Given the description of an element on the screen output the (x, y) to click on. 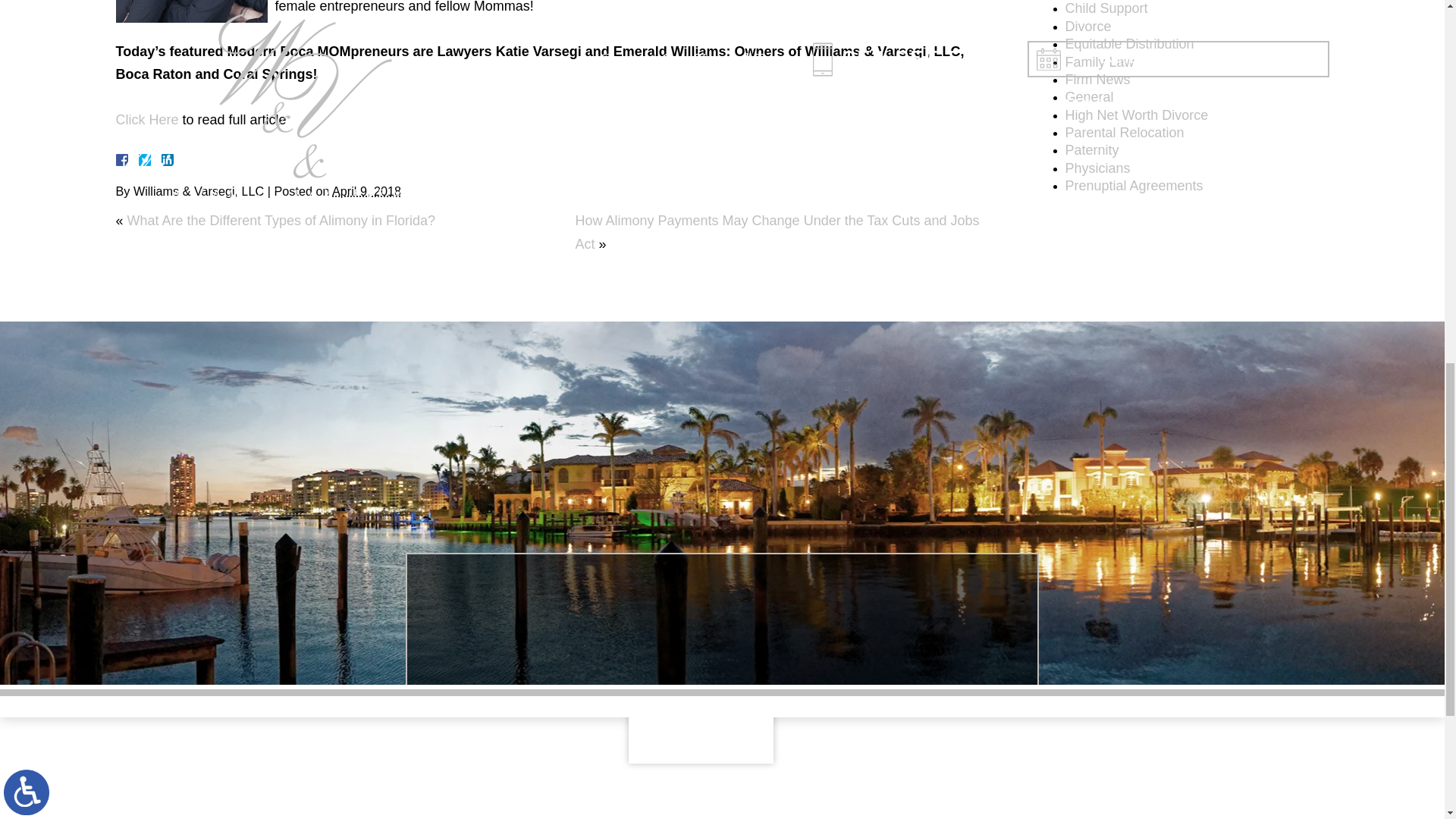
Twitter (149, 159)
KV57 (190, 11)
LinkedIn (160, 159)
Facebook (139, 159)
2018-04-09T09:27:38-0700 (366, 191)
